Given the description of an element on the screen output the (x, y) to click on. 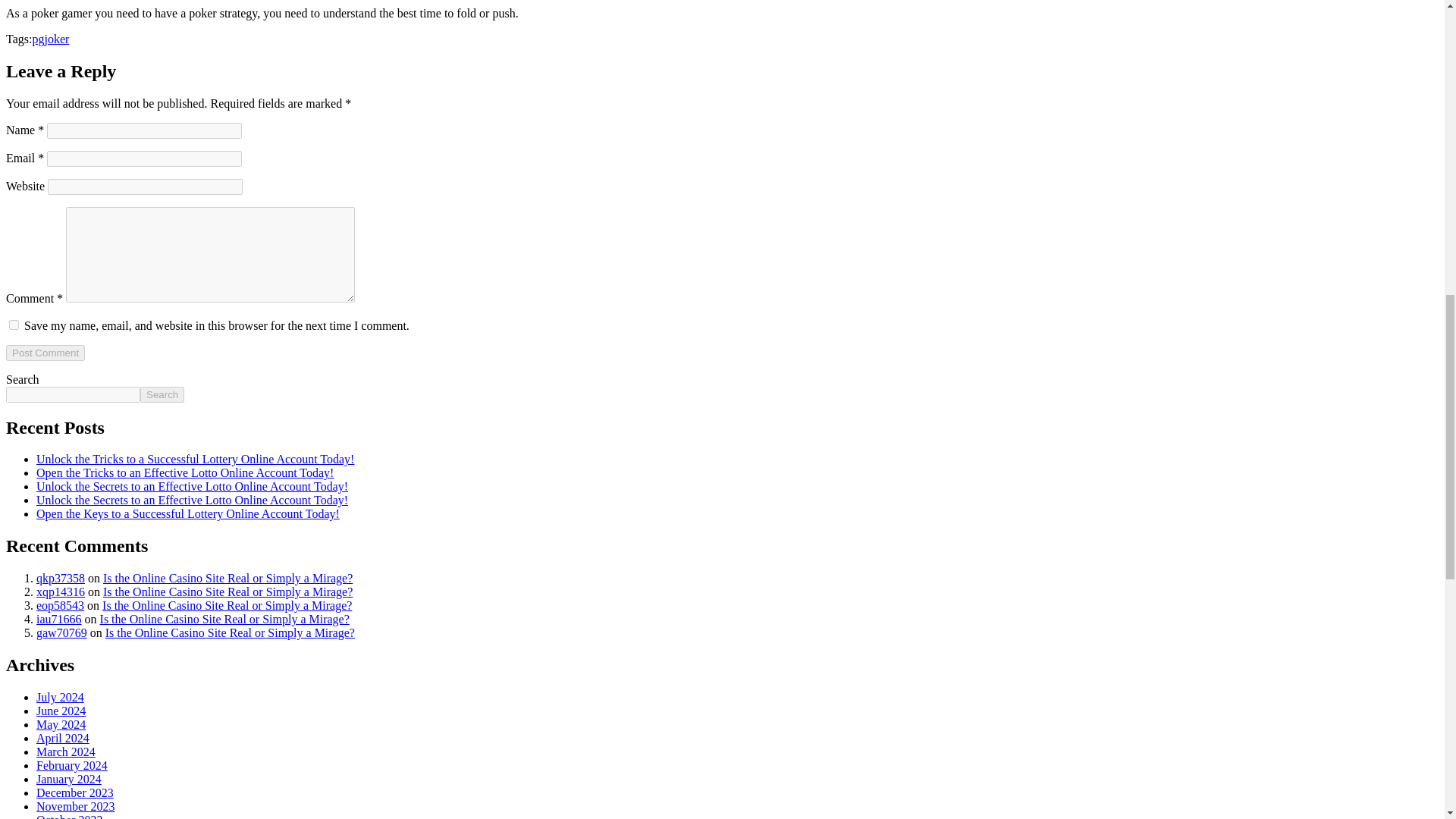
June 2024 (60, 710)
pgjoker (50, 38)
April 2024 (62, 738)
January 2024 (68, 779)
gaw70769 (61, 632)
February 2024 (71, 765)
December 2023 (74, 792)
March 2024 (66, 751)
yes (13, 325)
